Given the description of an element on the screen output the (x, y) to click on. 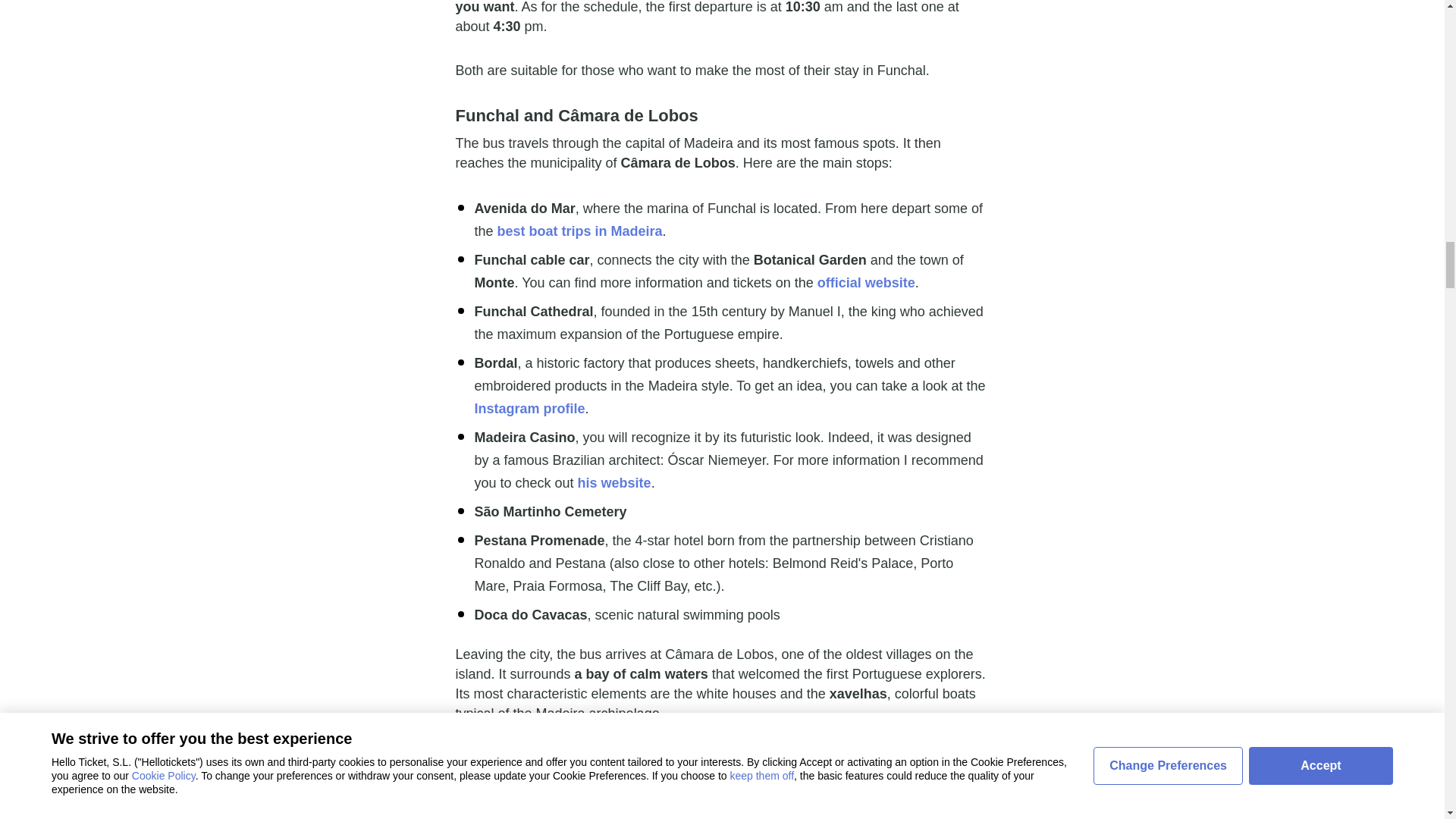
Vila do Peixe (736, 757)
best boat trips in Madeira (579, 231)
Instagram profile (529, 408)
official website (865, 282)
his website (614, 482)
Vila da Carne (716, 786)
